Given the description of an element on the screen output the (x, y) to click on. 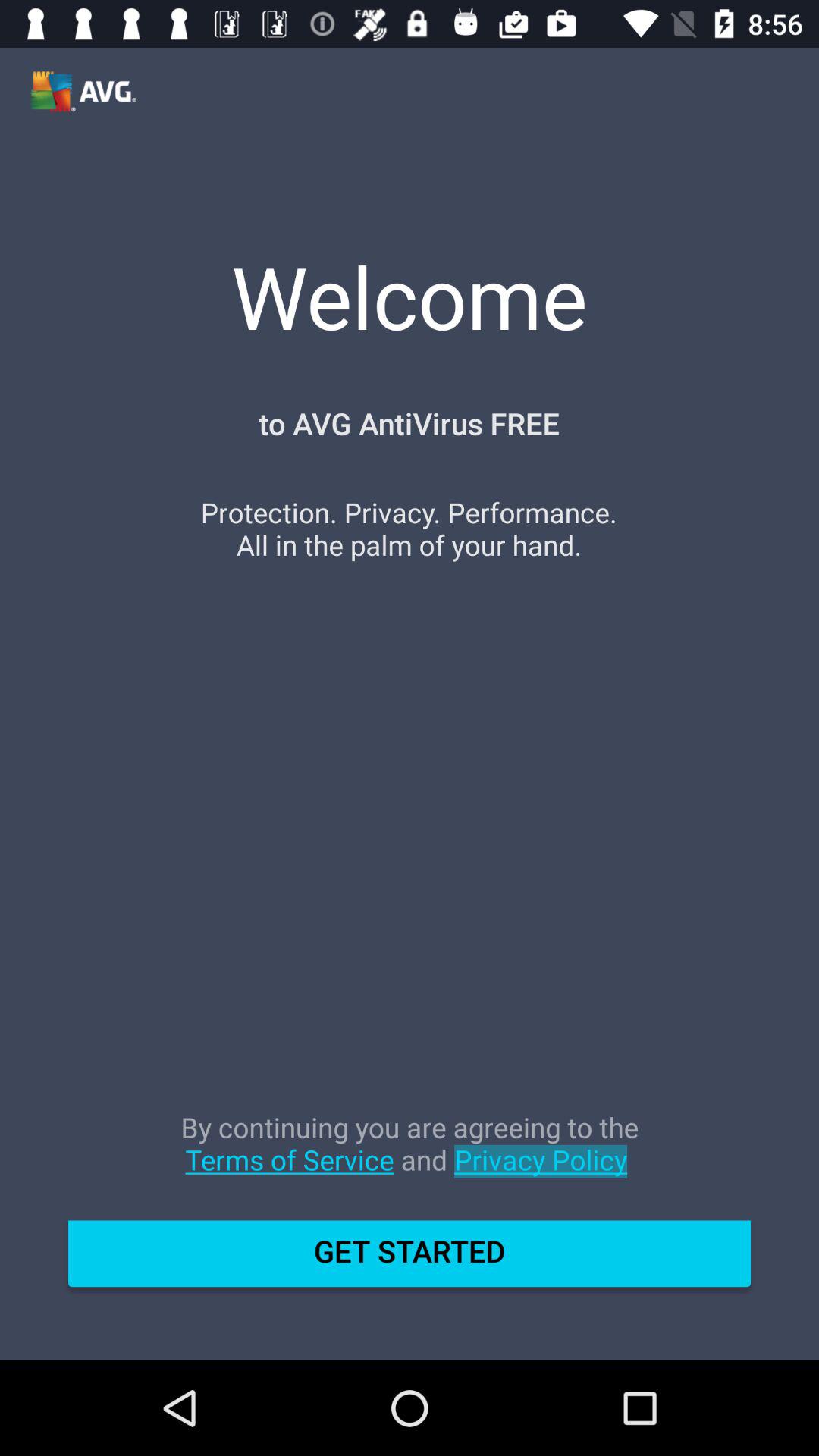
tap the item below the protection privacy performance item (409, 1159)
